Given the description of an element on the screen output the (x, y) to click on. 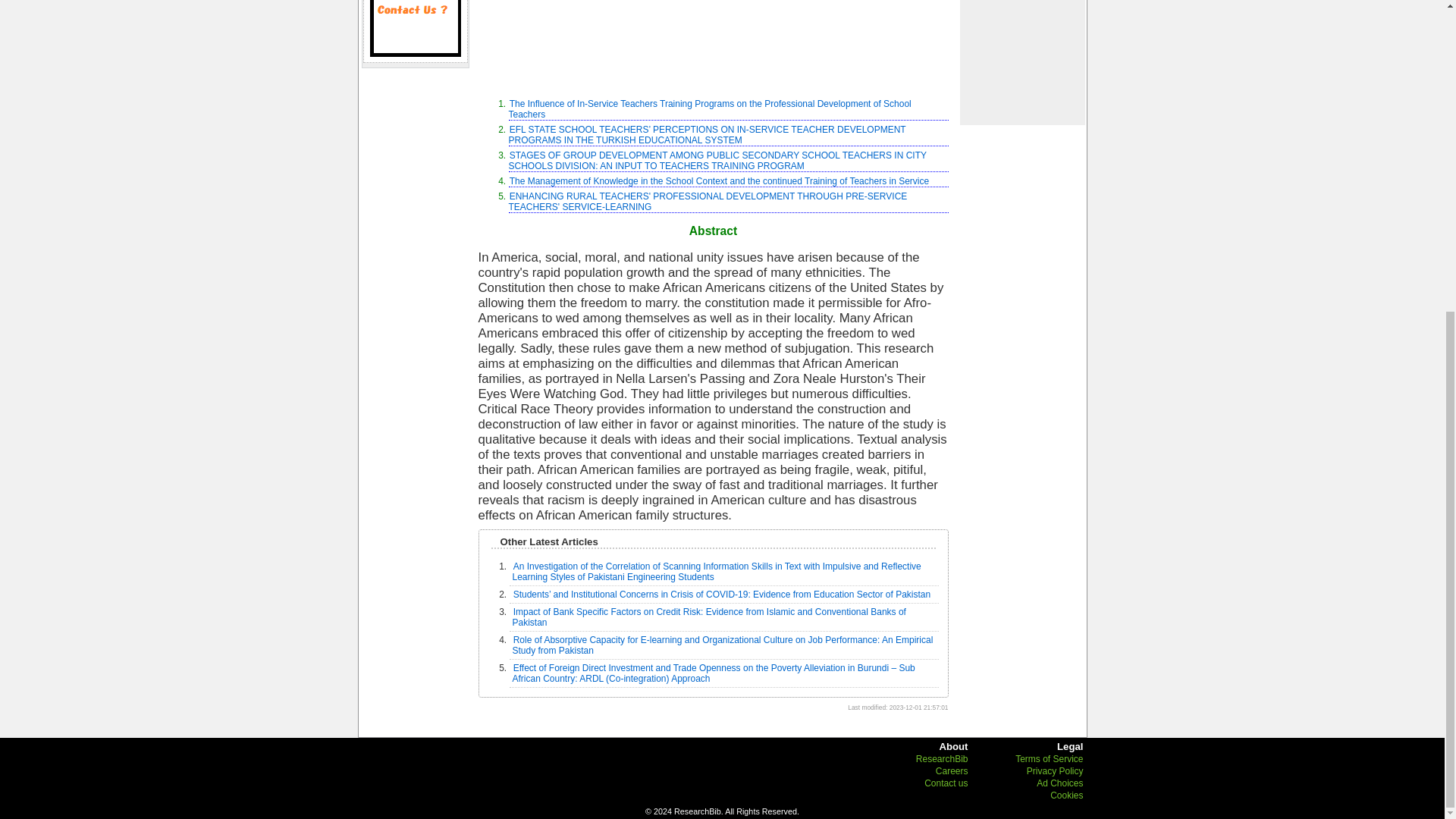
Careers (952, 770)
ResearchBib (941, 758)
Advertisement (712, 42)
Contact us (415, 28)
Ad Choices (1059, 783)
Advertisement (1021, 61)
Terms of Service (1048, 758)
Cookies (1066, 795)
Privacy Policy (1054, 770)
